Given the description of an element on the screen output the (x, y) to click on. 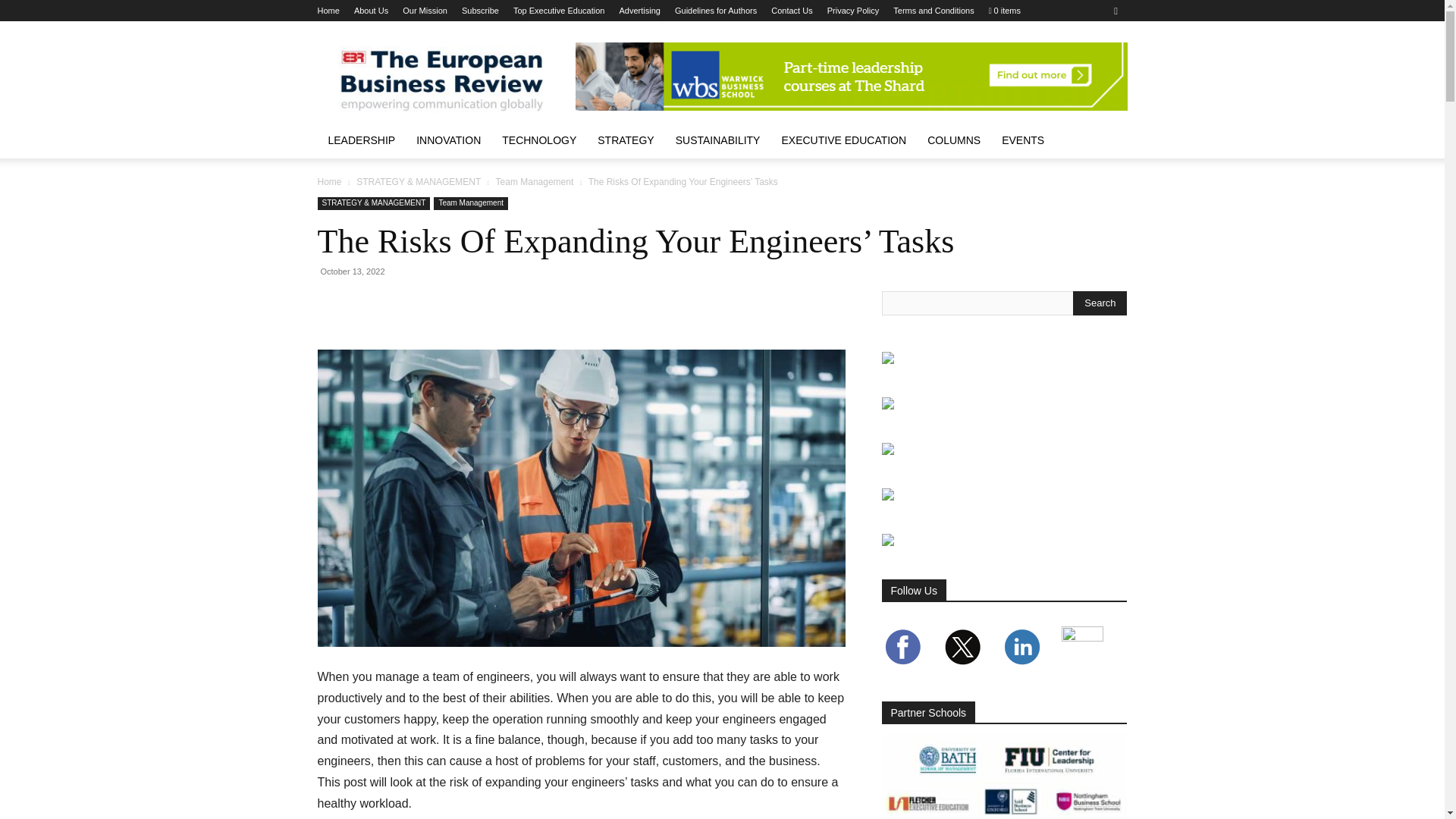
View all posts in Team Management (534, 181)
Search (1099, 303)
Innovation (449, 140)
advertisement (850, 76)
Start shopping (1004, 10)
